Given the description of an element on the screen output the (x, y) to click on. 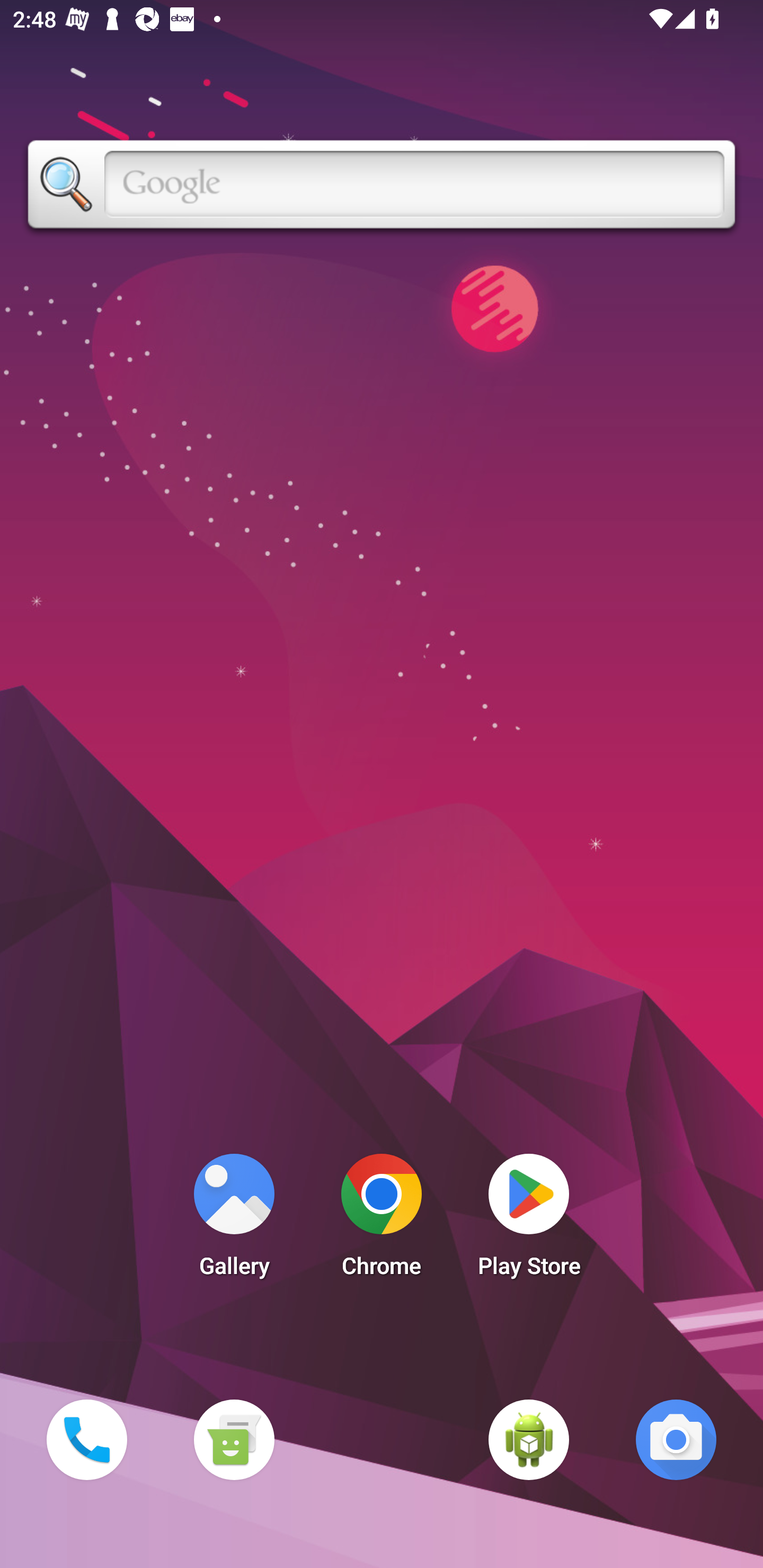
Gallery (233, 1220)
Chrome (381, 1220)
Play Store (528, 1220)
Phone (86, 1439)
Messaging (233, 1439)
WebView Browser Tester (528, 1439)
Camera (676, 1439)
